Given the description of an element on the screen output the (x, y) to click on. 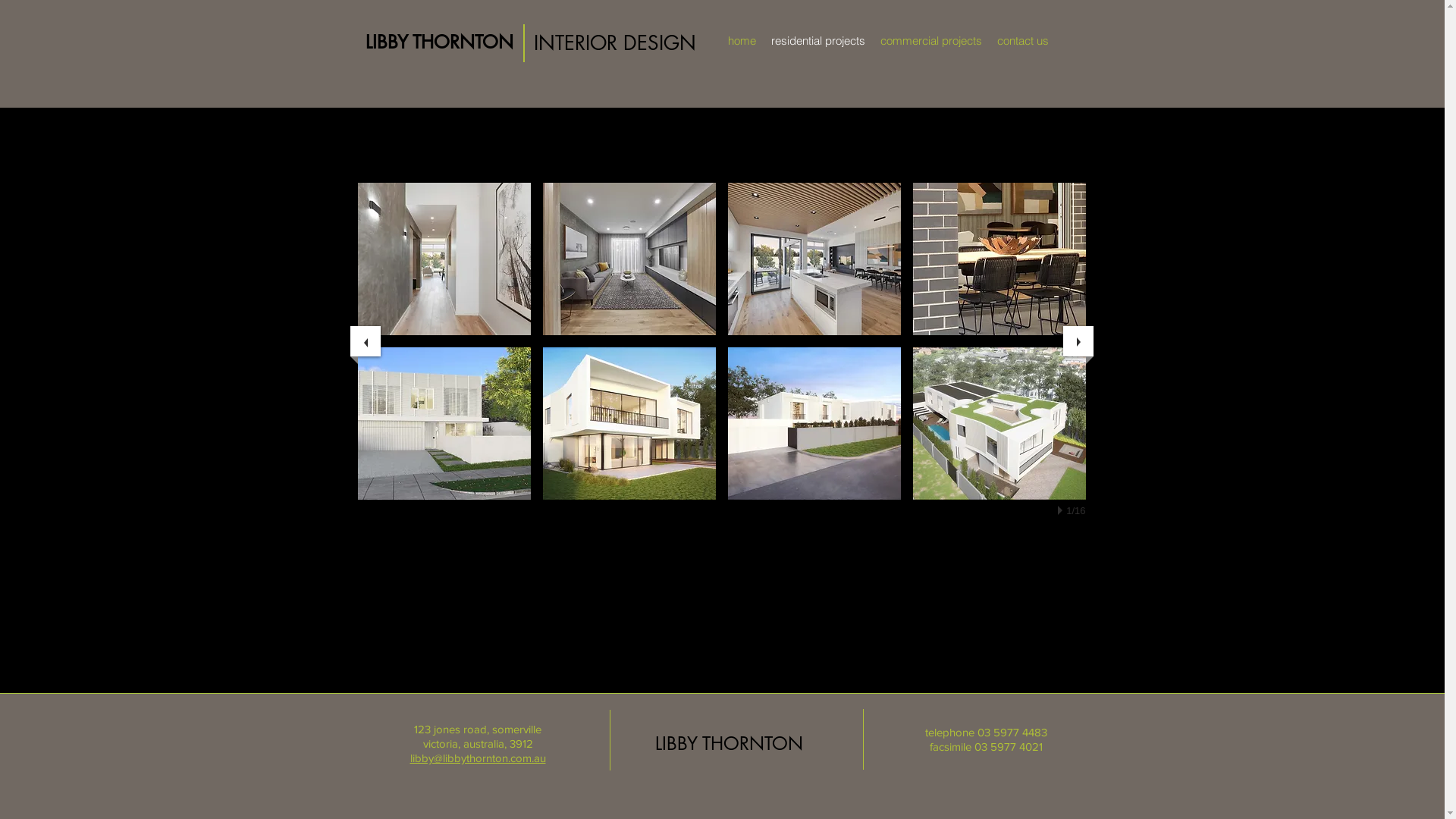
home Element type: text (741, 40)
LIBBY THORNTON Element type: text (729, 743)
residential projects Element type: text (817, 40)
libby@libbythornton.com.au Element type: text (477, 757)
LIBBY THORNTON Element type: text (439, 41)
INTERIOR DESIGN Element type: text (614, 43)
commercial projects Element type: text (930, 40)
contact us Element type: text (1021, 40)
